Given the description of an element on the screen output the (x, y) to click on. 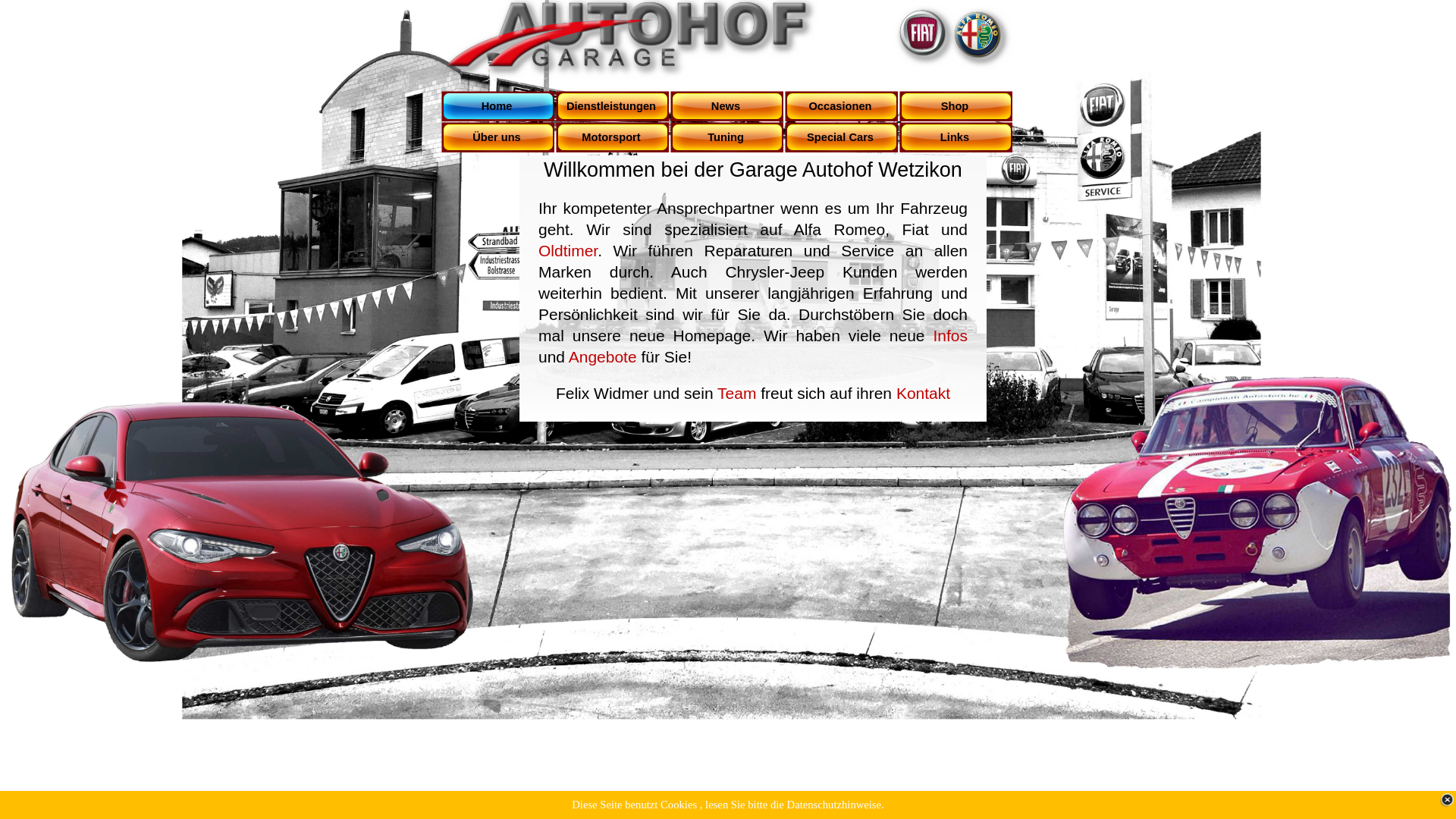
Oldtimer Element type: text (567, 250)
Dienstleistungen Element type: text (612, 106)
Home Element type: text (498, 106)
Kontakt Element type: text (923, 392)
Angebote Element type: text (602, 356)
Links Element type: text (956, 137)
Tuning Element type: text (727, 137)
Team Element type: text (736, 392)
Shop Element type: text (956, 106)
News Element type: text (727, 106)
Special Cars Element type: text (841, 137)
Occasionen Element type: text (841, 106)
Motorsport Element type: text (612, 137)
Infos Element type: text (949, 335)
